Given the description of an element on the screen output the (x, y) to click on. 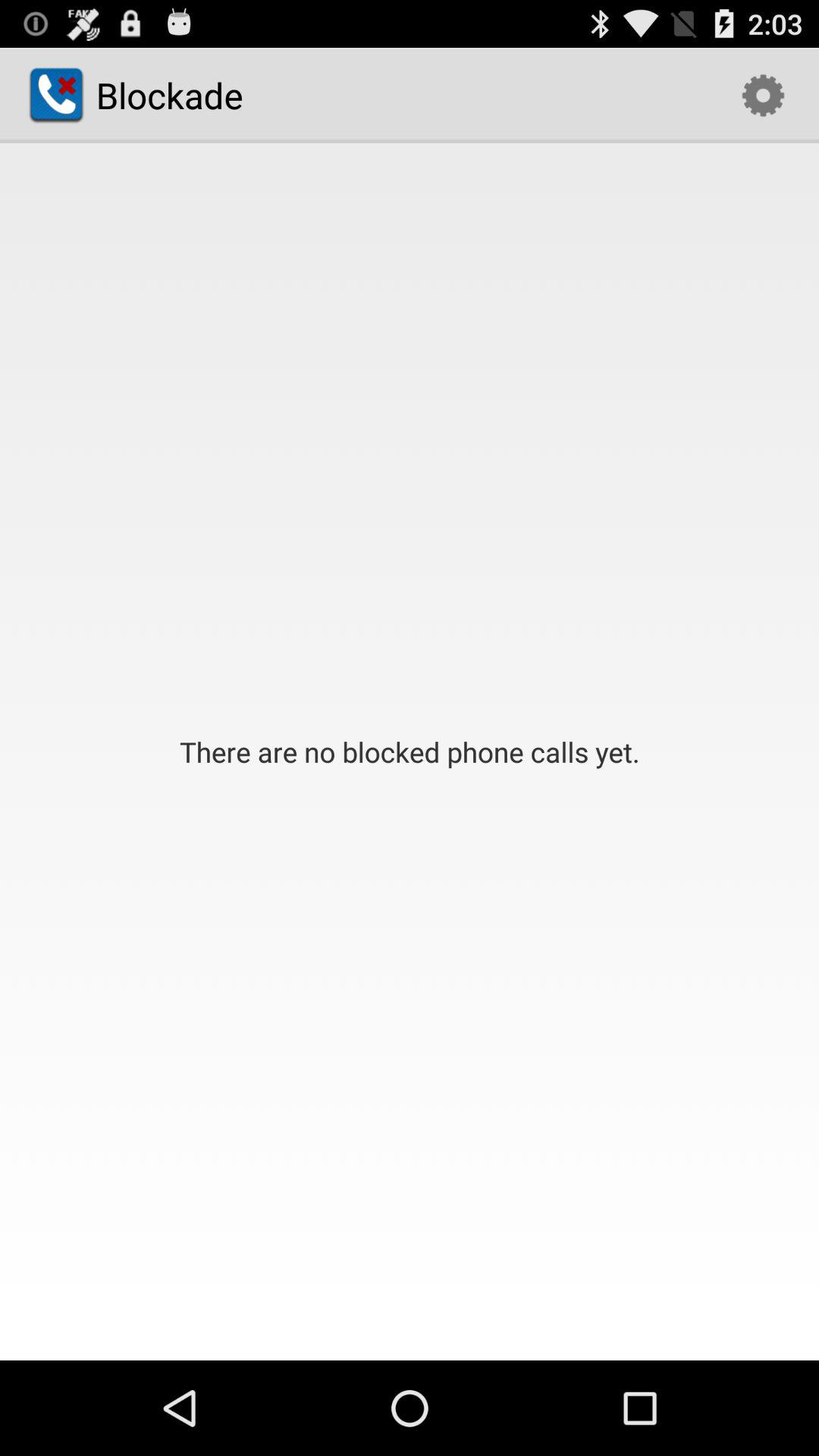
tap the item to the right of the blockade icon (763, 95)
